Given the description of an element on the screen output the (x, y) to click on. 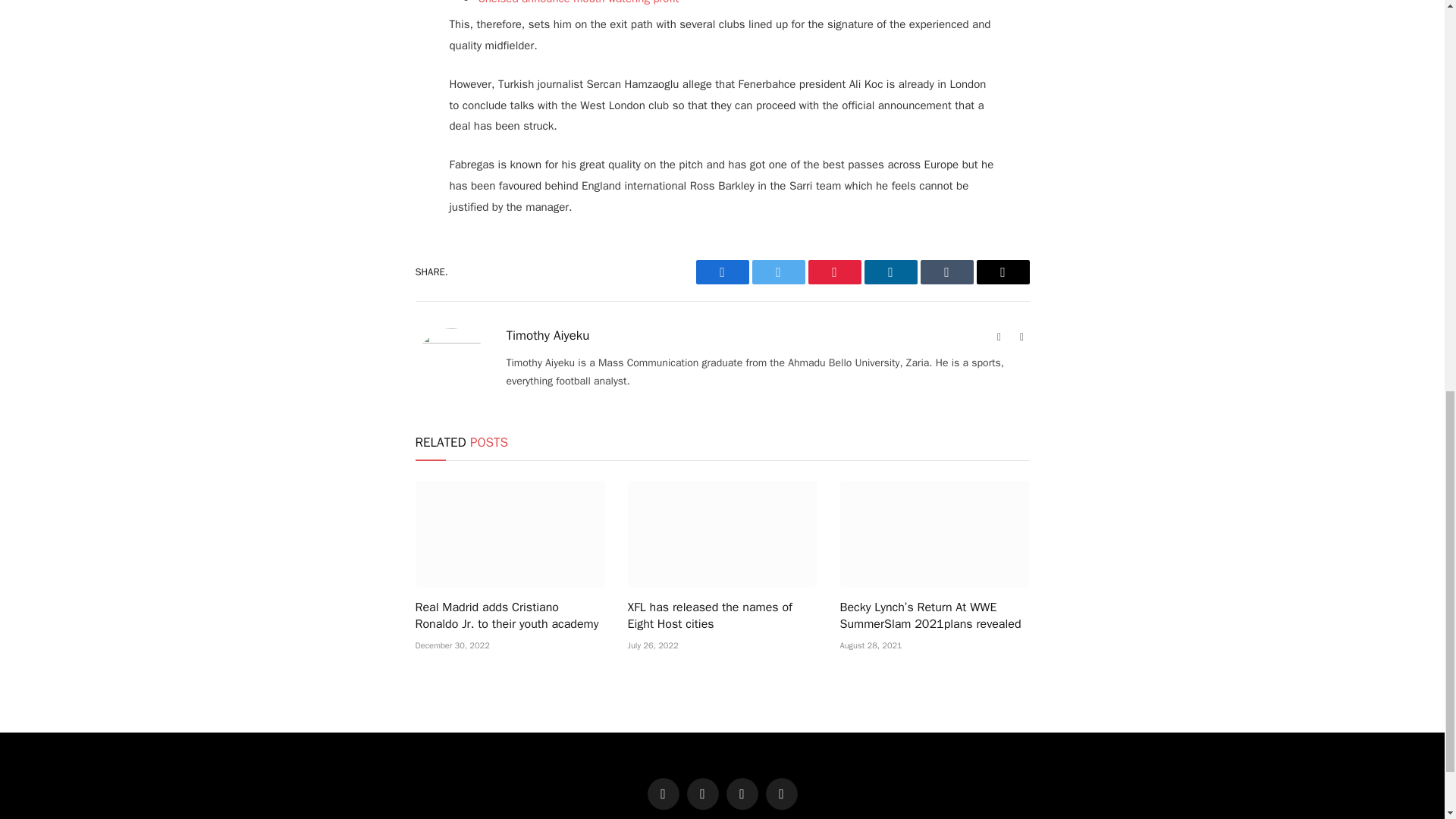
Share on LinkedIn (890, 272)
Twitter (778, 272)
Chelsea announce mouth-watering profit (577, 2)
Share on Pinterest (834, 272)
Facebook (722, 272)
Share on Facebook (722, 272)
